Given the description of an element on the screen output the (x, y) to click on. 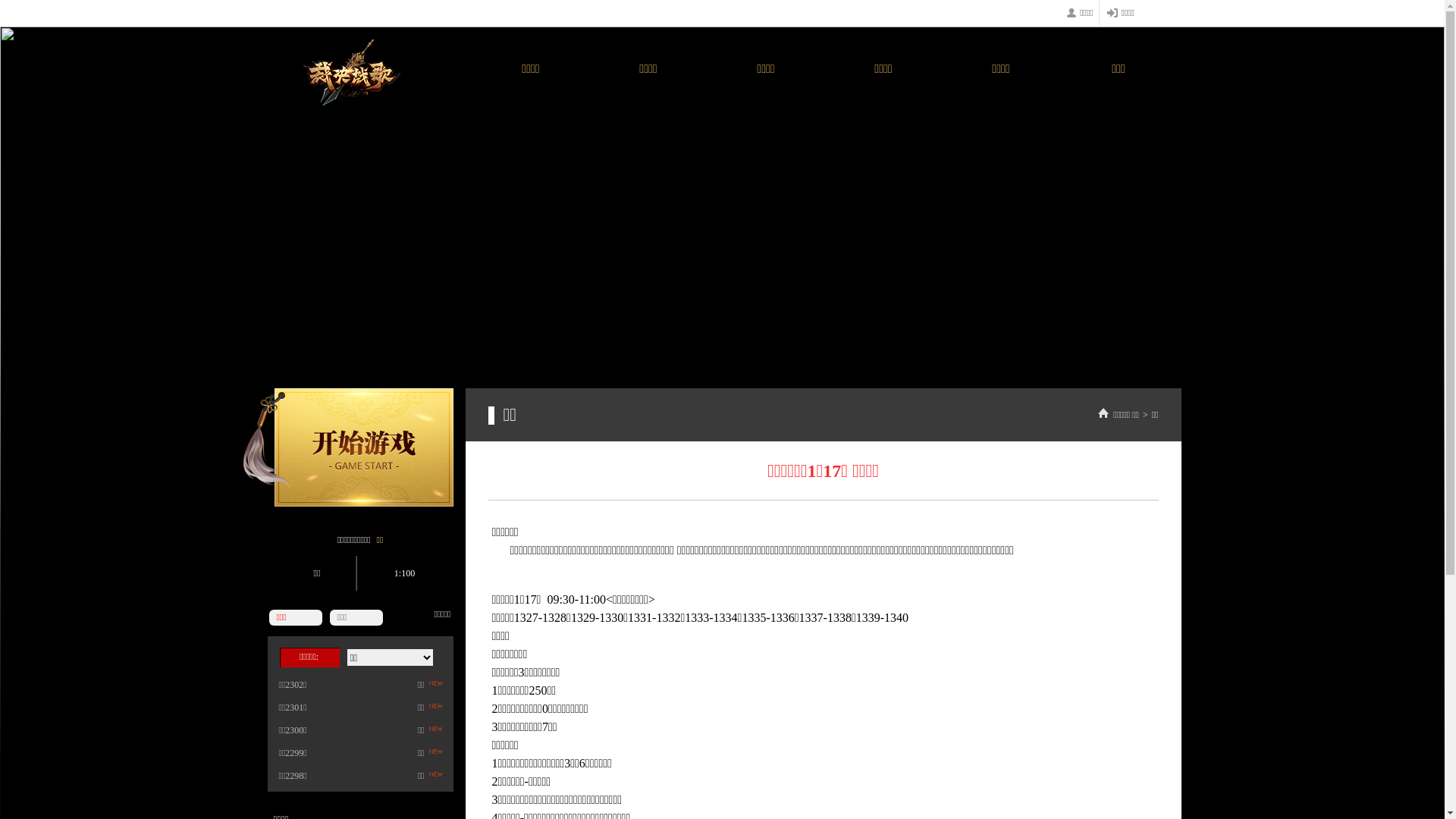
1:100 Element type: text (400, 572)
